Given the description of an element on the screen output the (x, y) to click on. 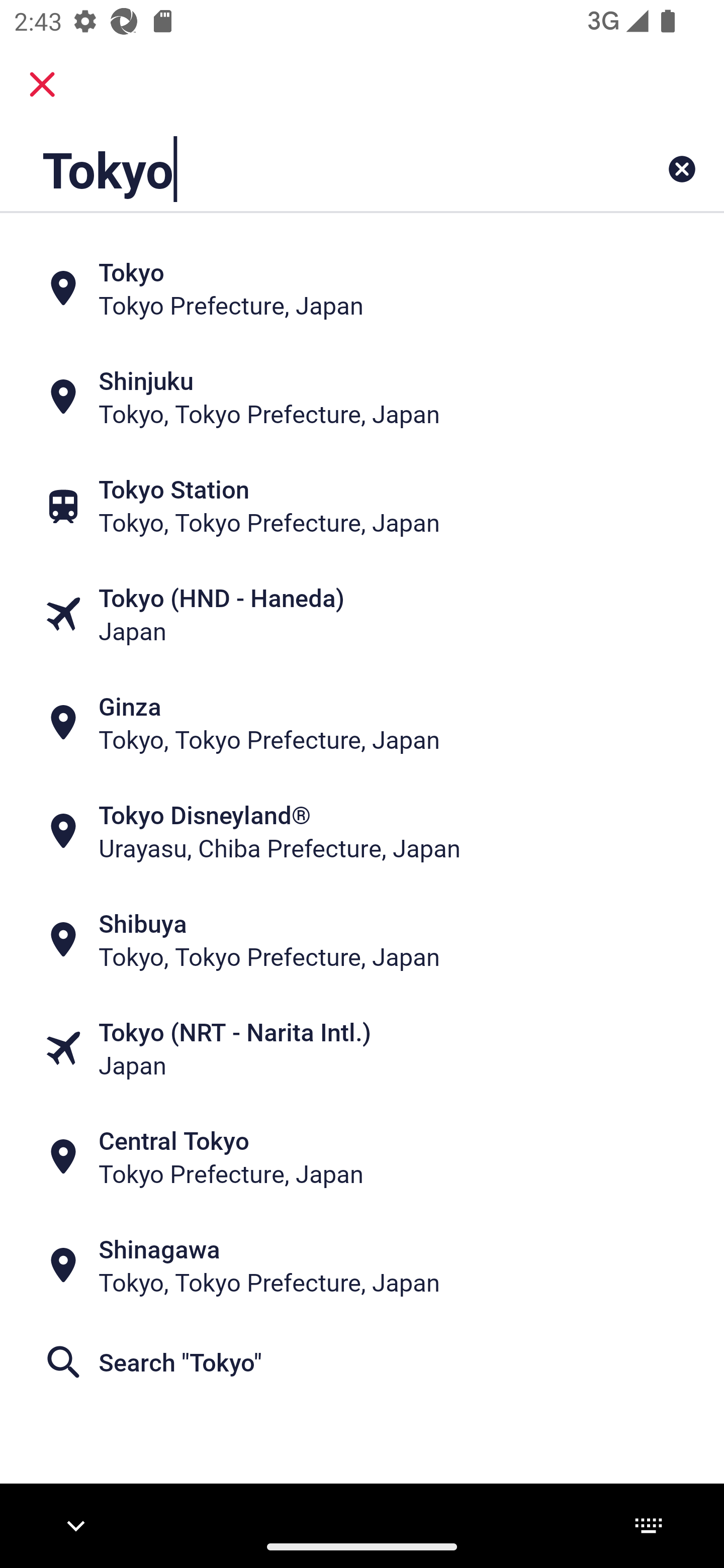
close. (42, 84)
Clear (681, 169)
Tokyo (298, 169)
Tokyo Tokyo Prefecture, Japan (362, 288)
Shinjuku Tokyo, Tokyo Prefecture, Japan (362, 397)
Tokyo Station Tokyo, Tokyo Prefecture, Japan (362, 505)
Tokyo (HND - Haneda) Japan (362, 613)
Ginza Tokyo, Tokyo Prefecture, Japan (362, 722)
Tokyo Disneyland® Urayasu, Chiba Prefecture, Japan (362, 831)
Shibuya Tokyo, Tokyo Prefecture, Japan (362, 939)
Tokyo (NRT - Narita Intl.) Japan (362, 1048)
Central Tokyo Tokyo Prefecture, Japan (362, 1156)
Shinagawa Tokyo, Tokyo Prefecture, Japan (362, 1265)
Search "Tokyo" (362, 1362)
